Given the description of an element on the screen output the (x, y) to click on. 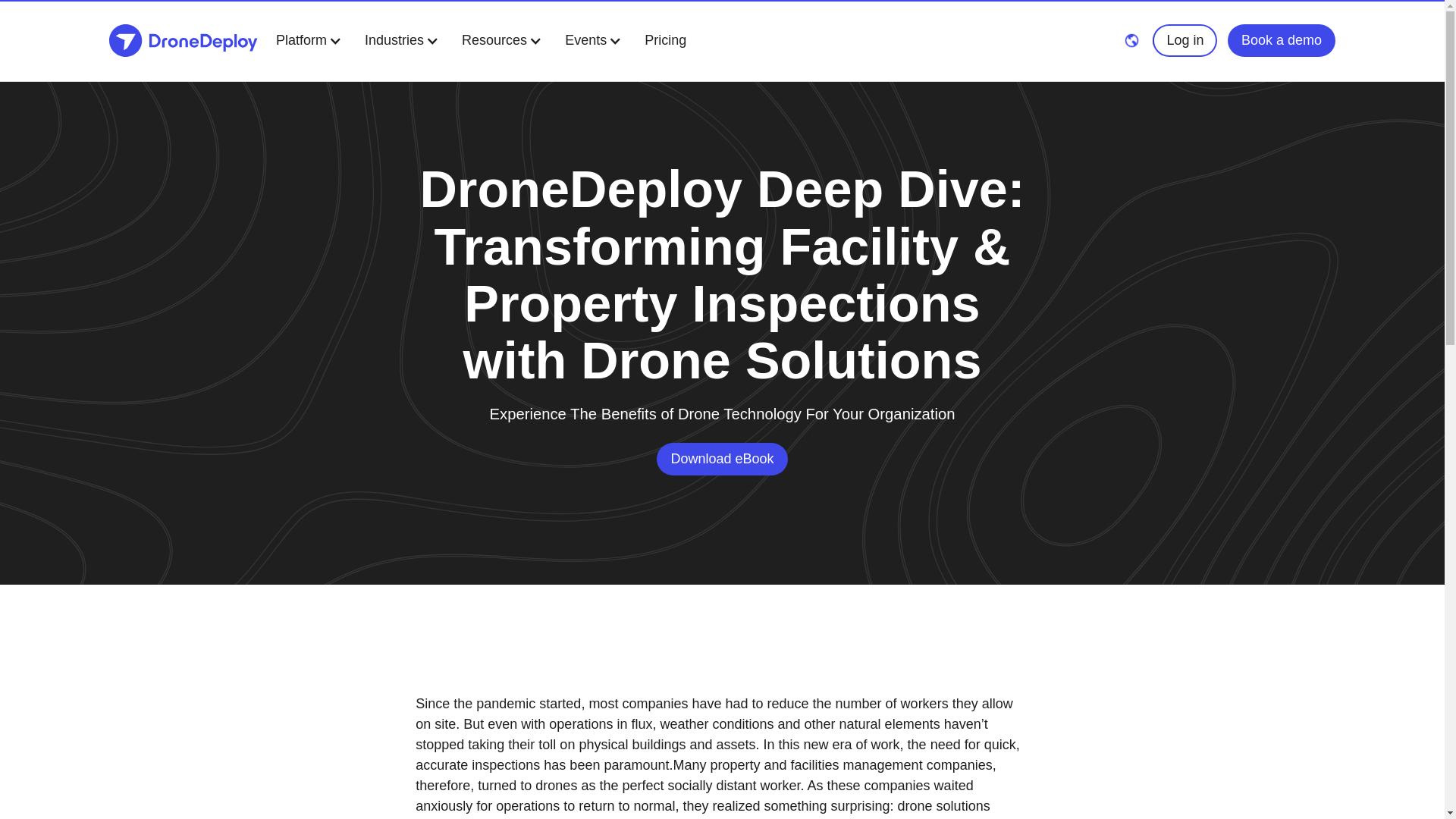
Pricing (665, 40)
